Given the description of an element on the screen output the (x, y) to click on. 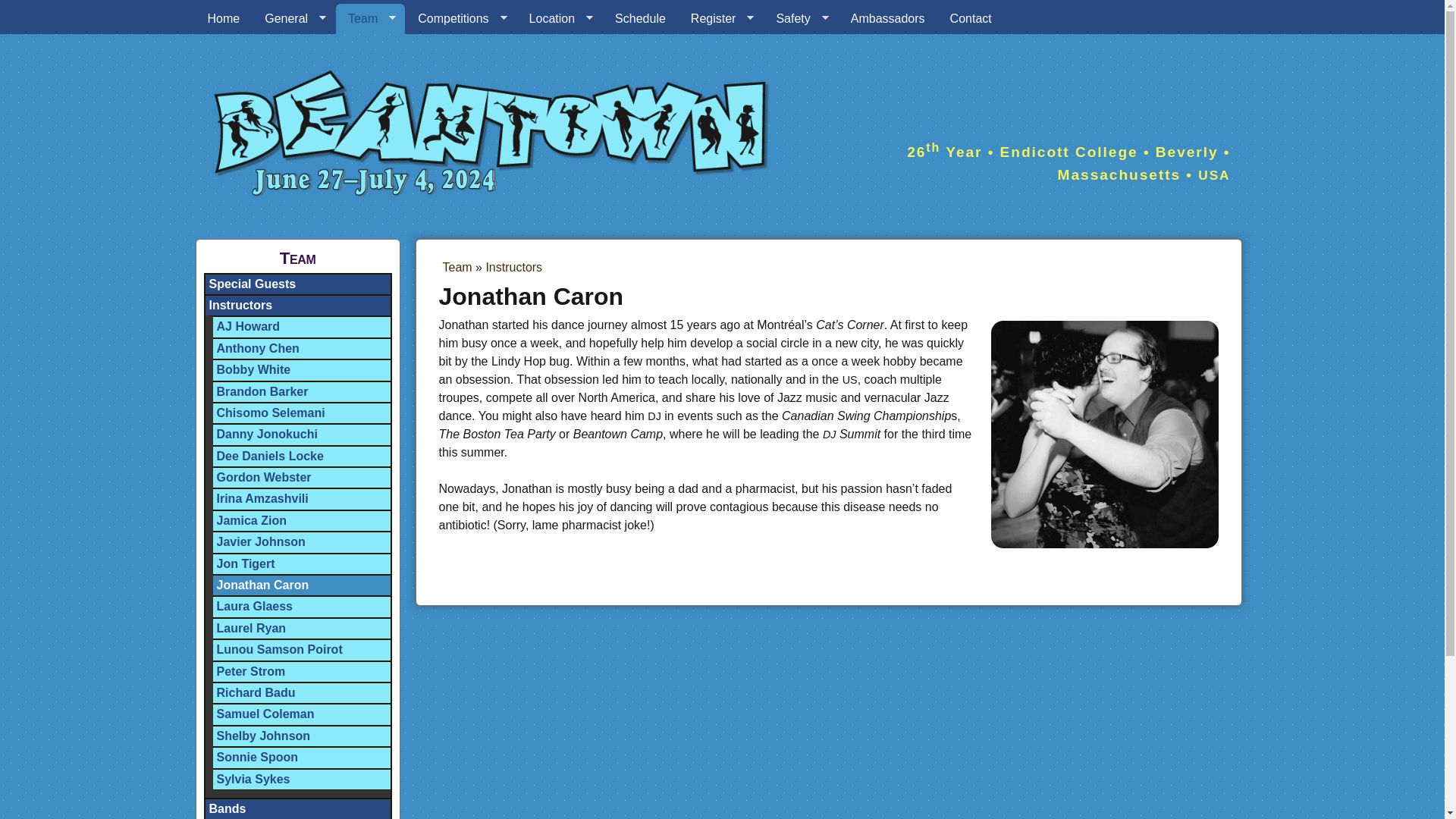
Home (223, 19)
General Beantown Camp information. (292, 19)
Beantown Camp (223, 19)
